Given the description of an element on the screen output the (x, y) to click on. 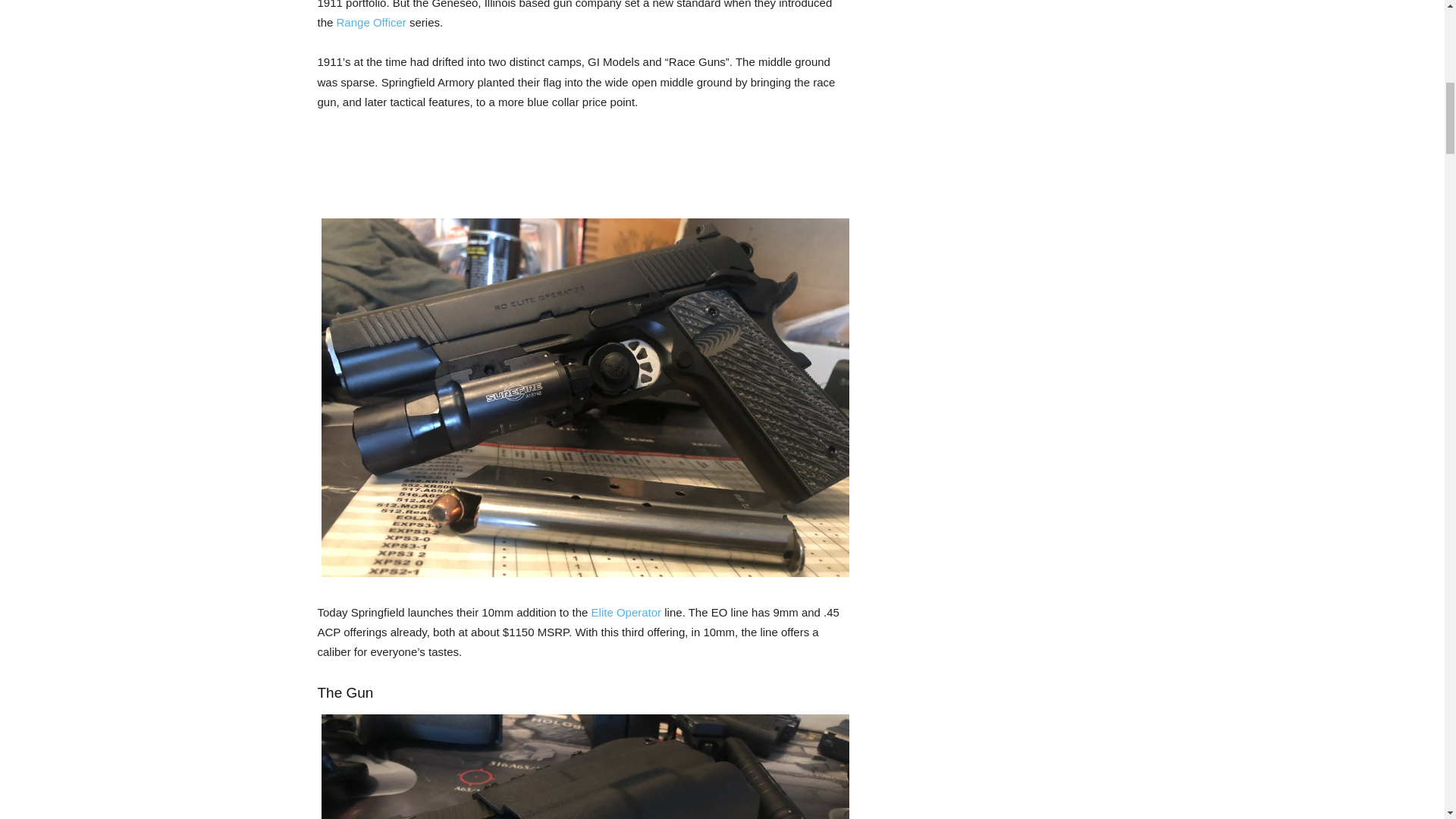
3rd party ad content (572, 172)
